Given the description of an element on the screen output the (x, y) to click on. 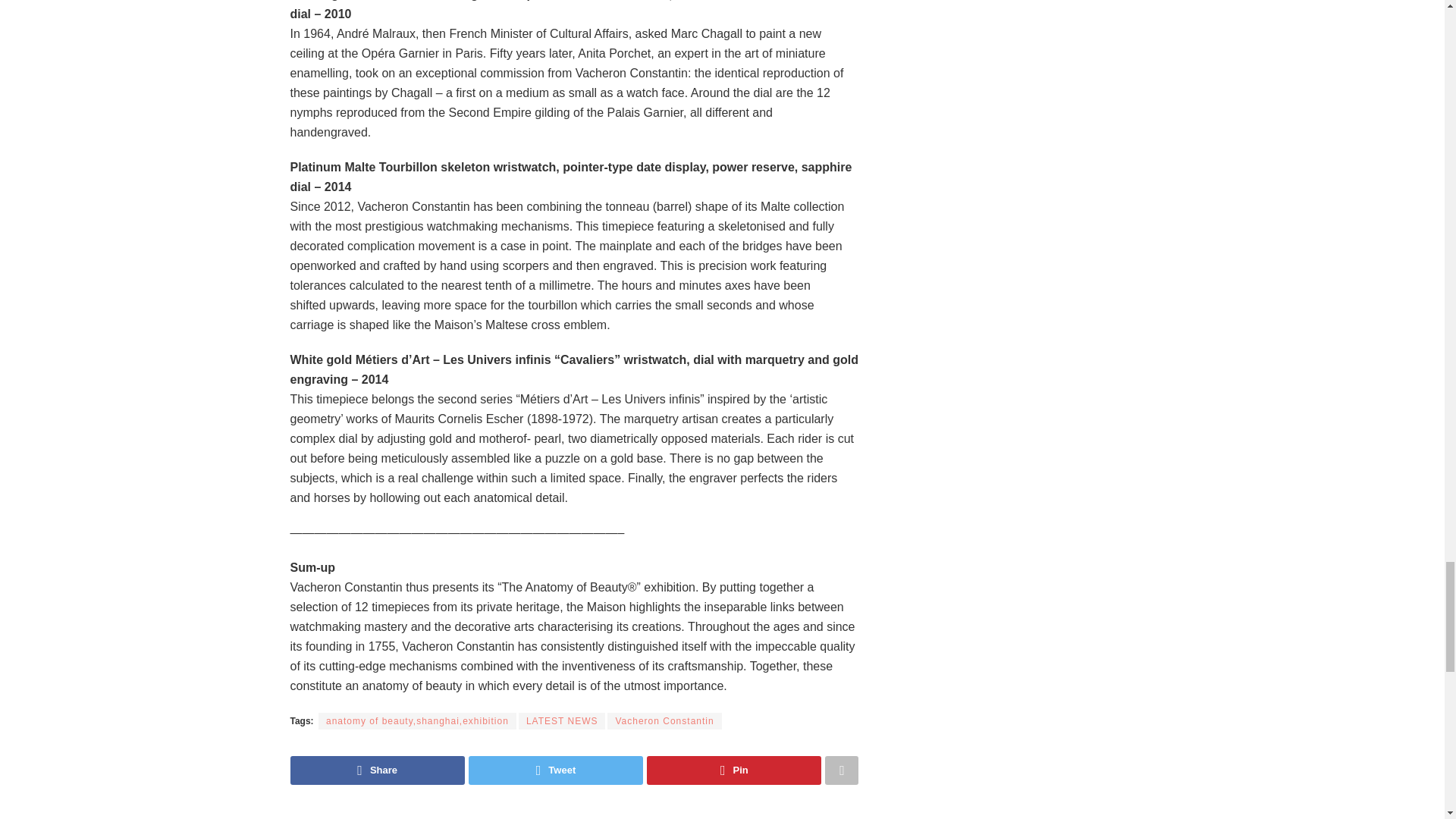
Pin (733, 769)
Share (376, 769)
LATEST NEWS (561, 720)
Vacheron Constantin (663, 720)
anatomy of beauty,shanghai,exhibition (417, 720)
Tweet (555, 769)
